Given the description of an element on the screen output the (x, y) to click on. 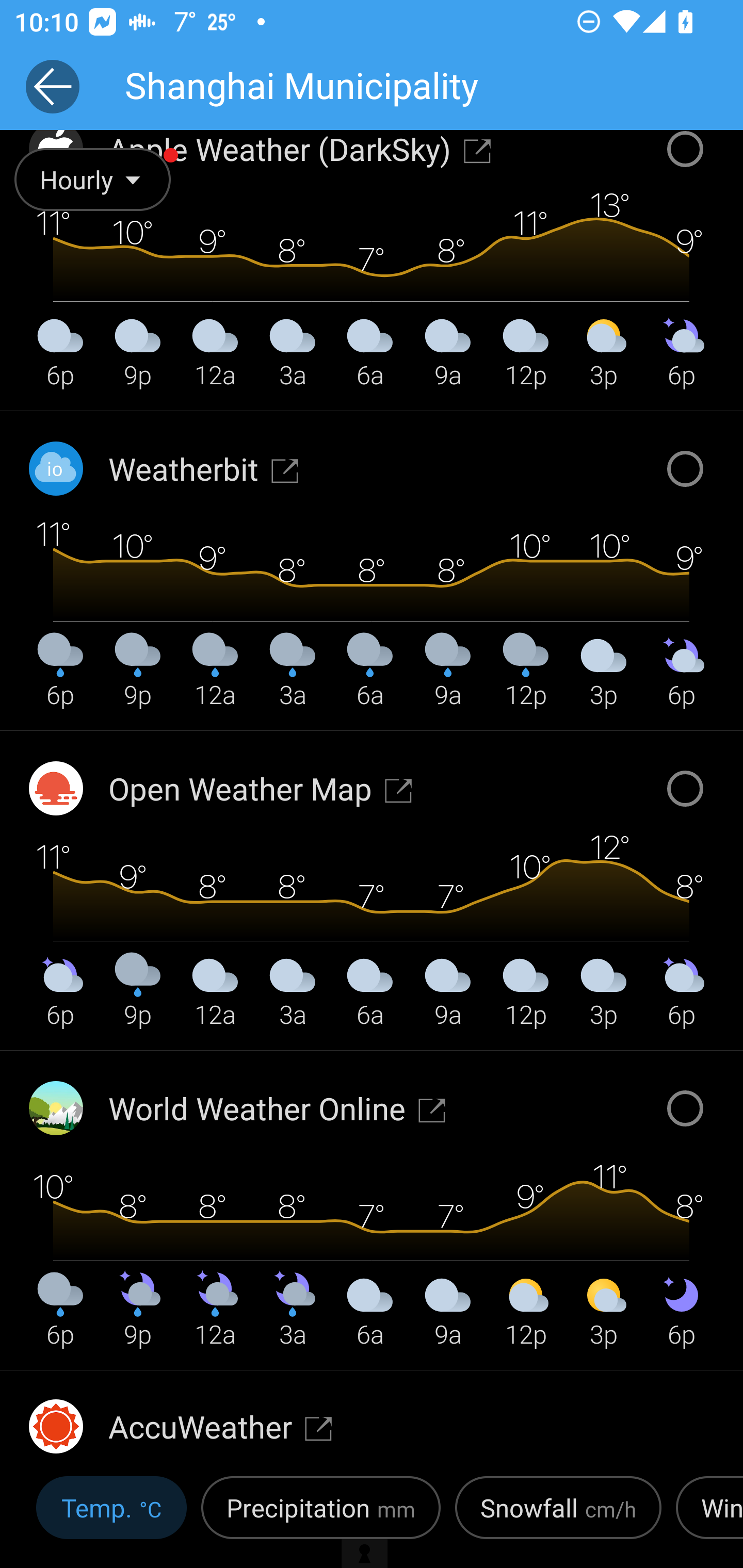
6p 9p 12a 3a 6a 9a 12p 3p 6p (371, 264)
Apple Weather (DarkSky)  (300, 148)
6p 9p 12a 3a 6a 9a 12p 3p 6p (371, 569)
Weatherbit  (204, 468)
6p 9p 12a 3a 6a 9a 12p 3p 6p (371, 888)
Open Weather Map  (261, 788)
6p 9p 12a 3a 6a 9a 12p 3p 6p (371, 1208)
World Weather Online  (277, 1107)
AccuWeather  (221, 1425)
 (371, 1510)
Temp. °C (110, 1514)
Precipitation mm (320, 1514)
Snowfall cm/h (558, 1514)
